Given the description of an element on the screen output the (x, y) to click on. 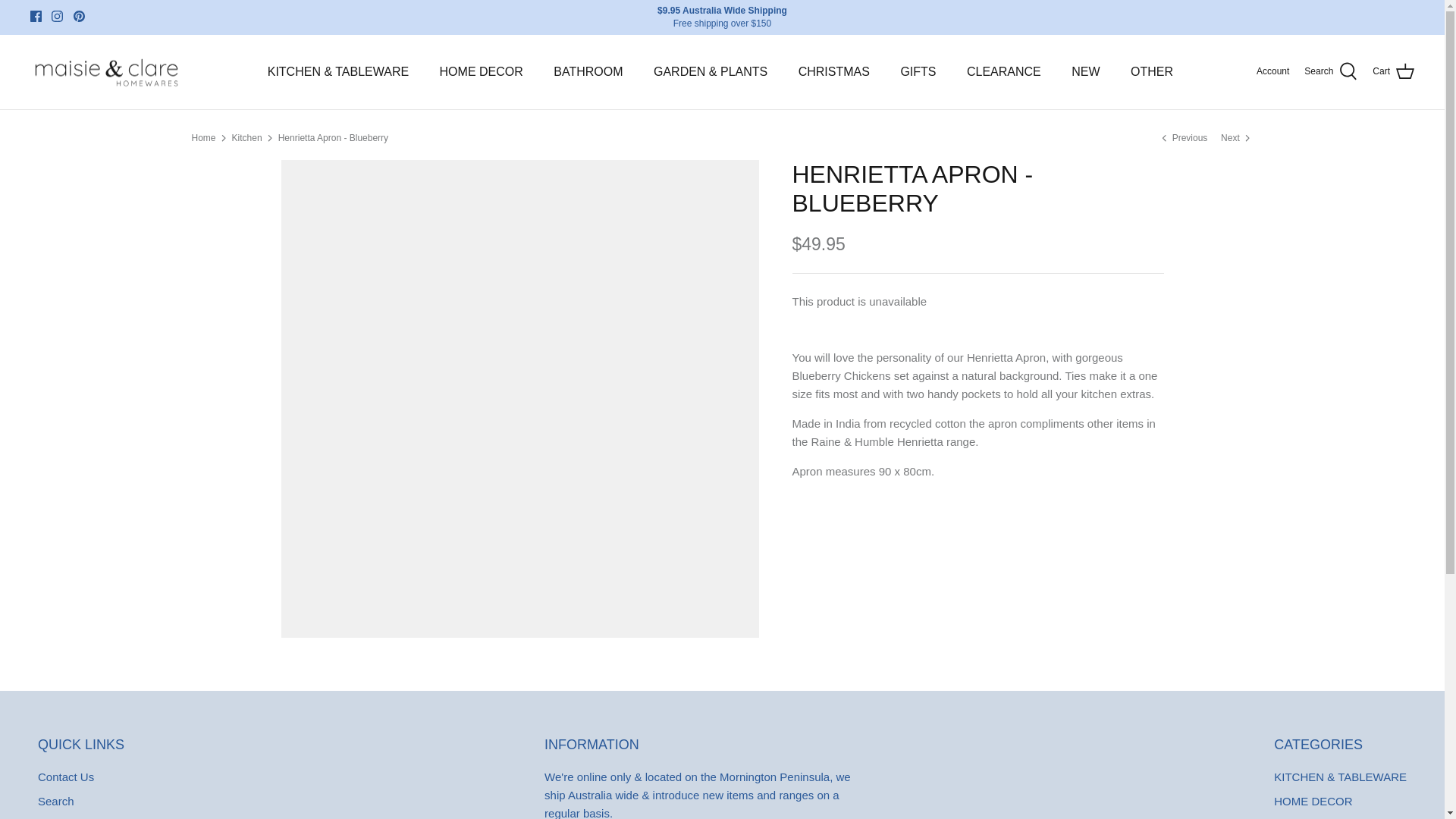
Repose Orbit Sage Stoneware Canisters with Lids - Set of 3 (1236, 136)
BATHROOM (588, 71)
Facebook (36, 16)
CHRISTMAS (833, 71)
Pinterest (79, 16)
GIFTS (917, 71)
Instagram (56, 16)
Search (1330, 71)
NEW (1085, 71)
Instagram (56, 16)
